Given the description of an element on the screen output the (x, y) to click on. 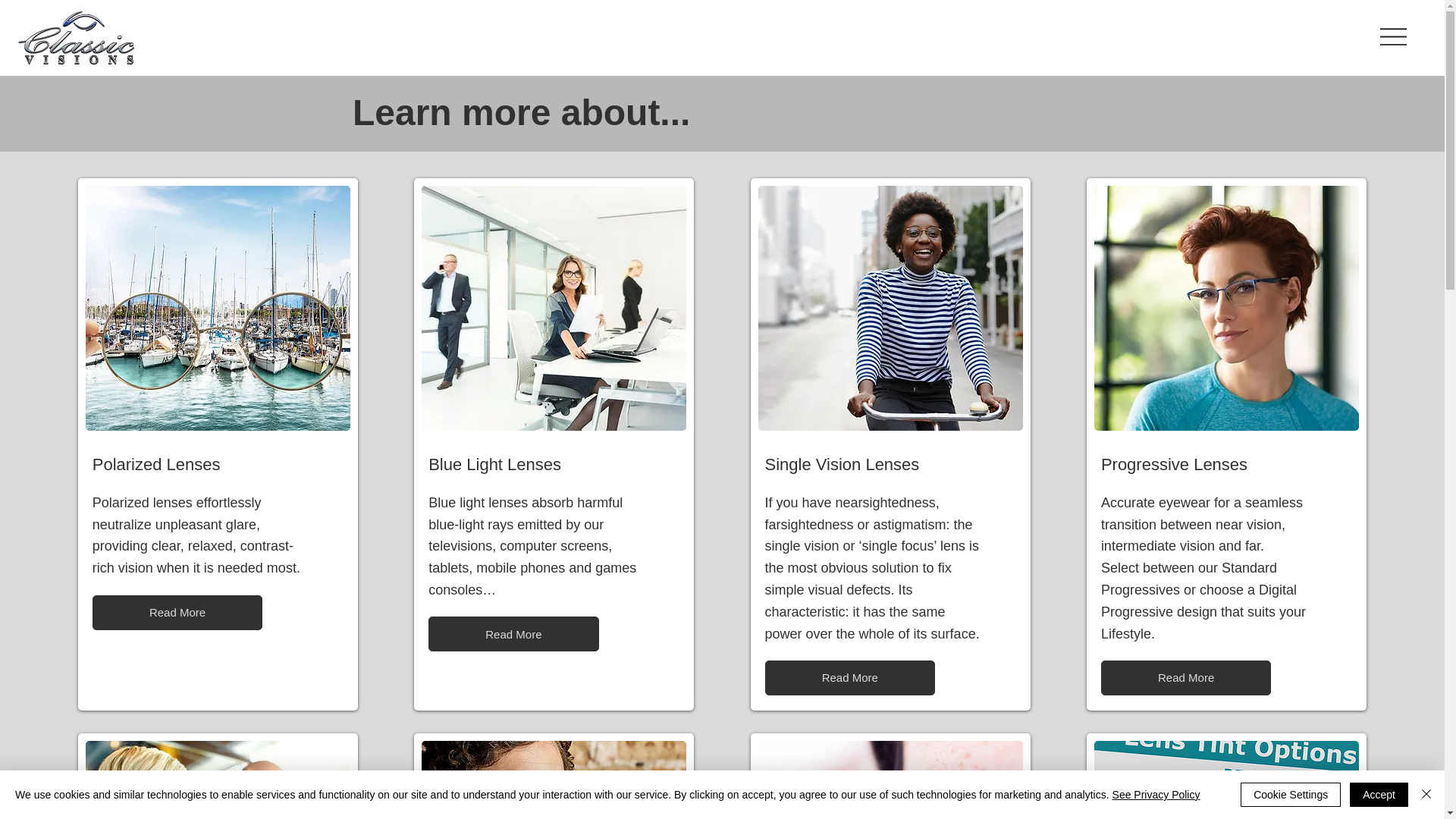
Read More (513, 633)
Read More (178, 611)
Read More (849, 677)
Read More (1185, 677)
